Given the description of an element on the screen output the (x, y) to click on. 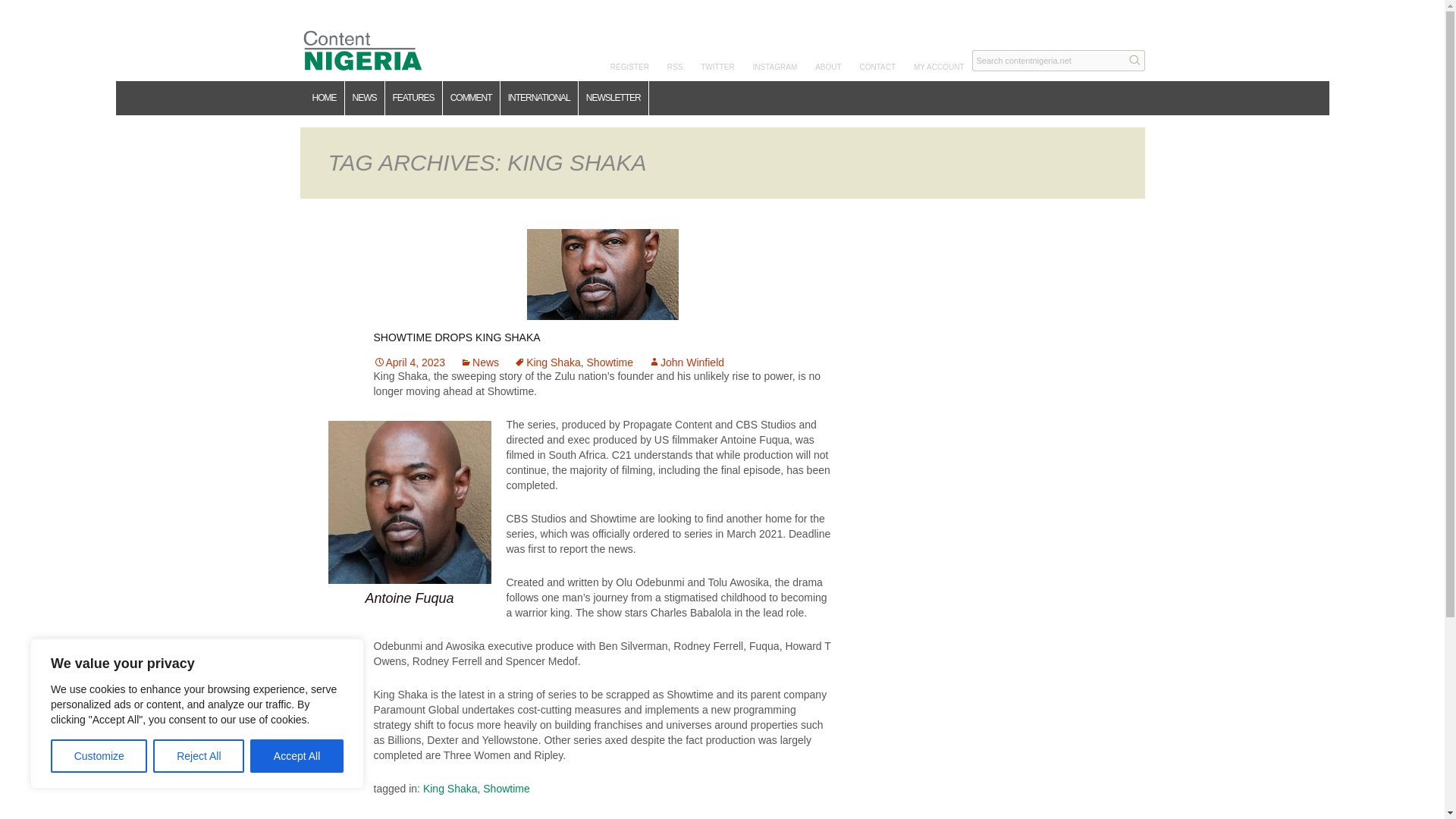
King Shaka (546, 362)
HOME (324, 98)
Permalink to Showtime drops King Shaka (408, 362)
TWITTER (717, 67)
April 4, 2023 (408, 362)
MY ACCOUNT (938, 67)
INTERNATIONAL (539, 98)
Reject All (198, 756)
NEWSLETTER (613, 98)
INSTAGRAM (775, 67)
View all posts by John Winfield (685, 362)
Showtime (506, 788)
Showtime (609, 362)
Search (1134, 59)
COMMENT (471, 98)
